Given the description of an element on the screen output the (x, y) to click on. 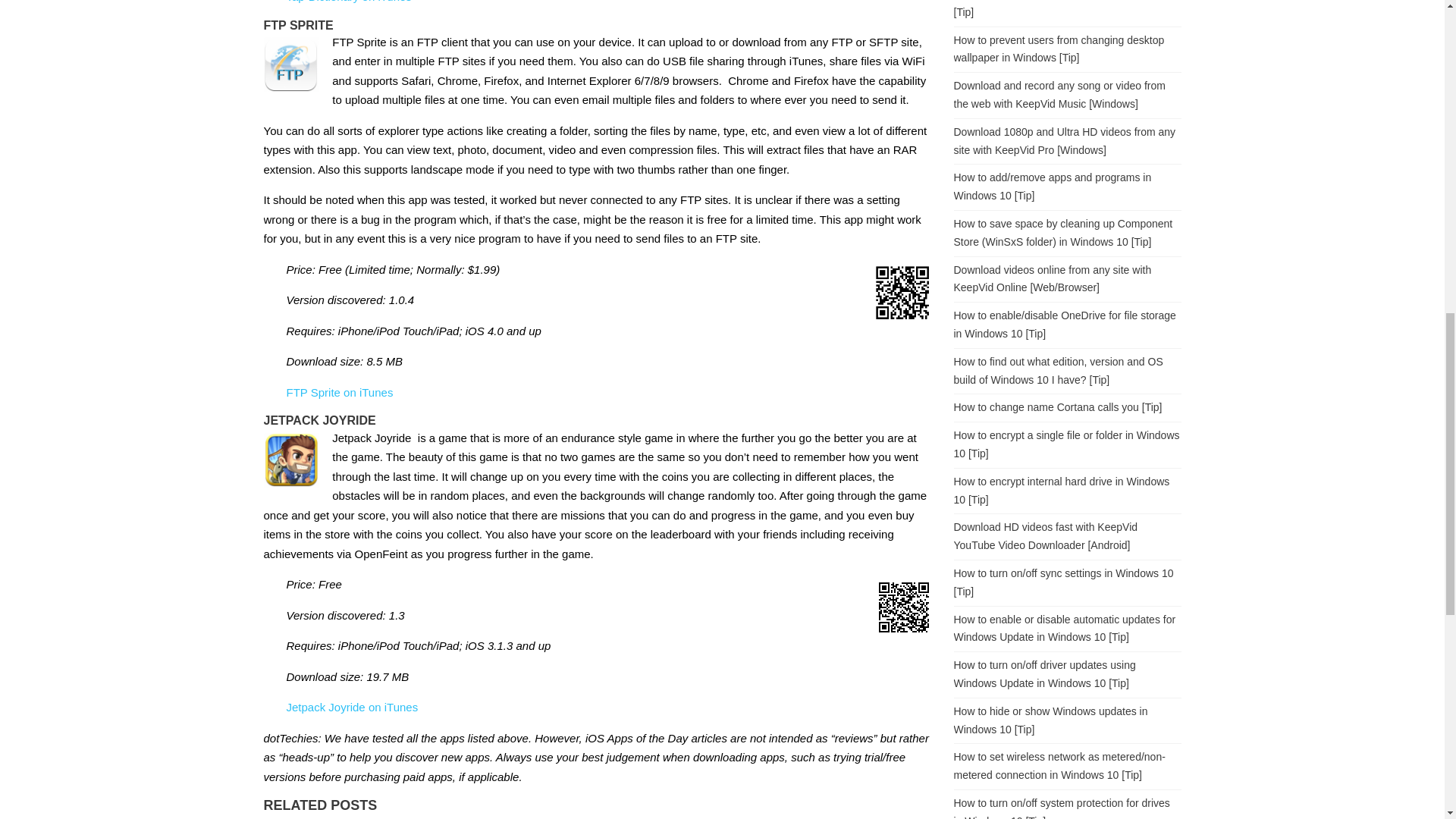
Tap-Dictionary on iTunes (349, 1)
FTP Sprite on iTunes (339, 391)
Jetpack Joyride on iTunes (352, 707)
